Given the description of an element on the screen output the (x, y) to click on. 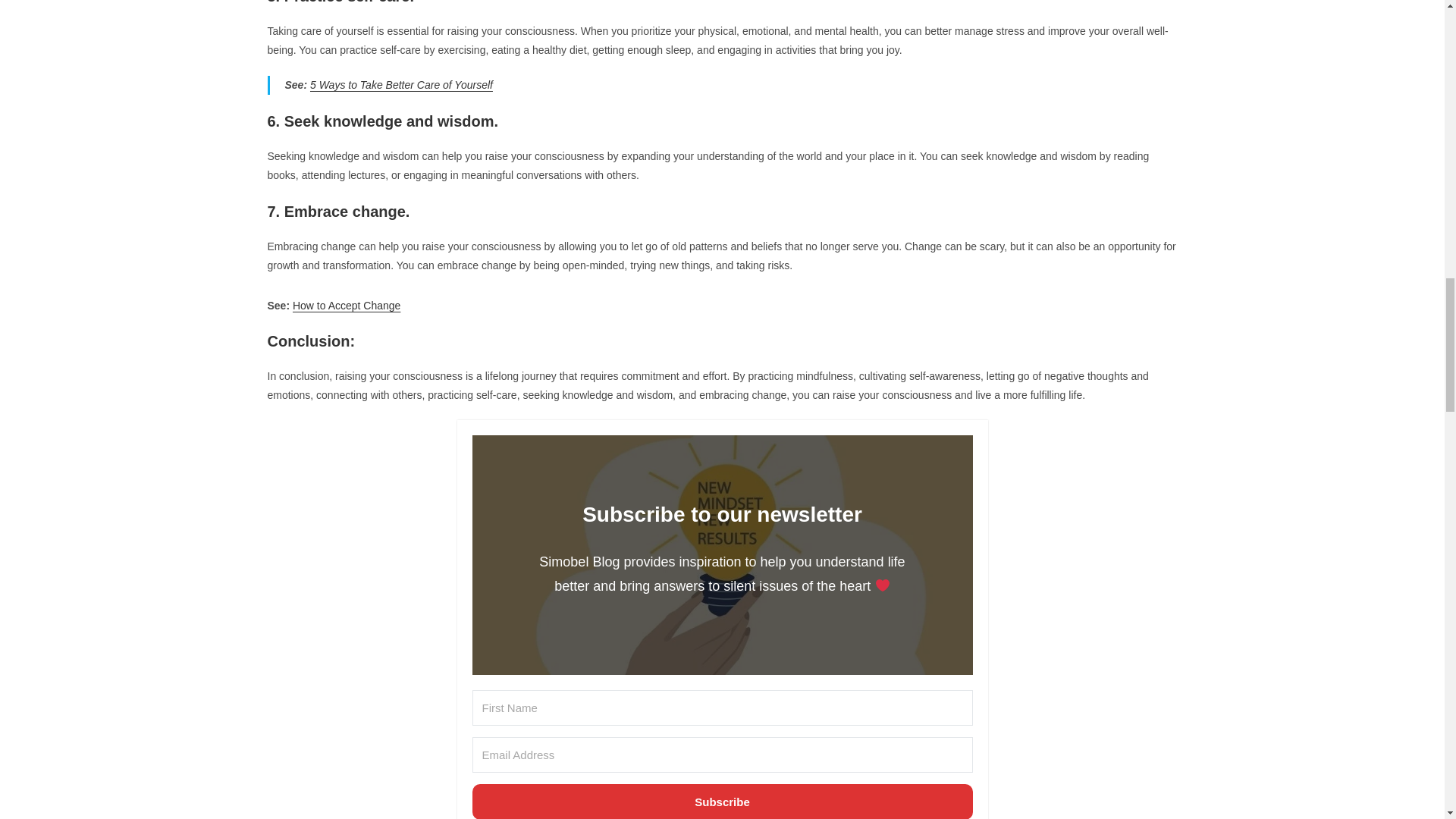
How to Accept Change (346, 305)
5 Ways to Take Better Care of Yourself (401, 84)
Subscribe (721, 801)
